Given the description of an element on the screen output the (x, y) to click on. 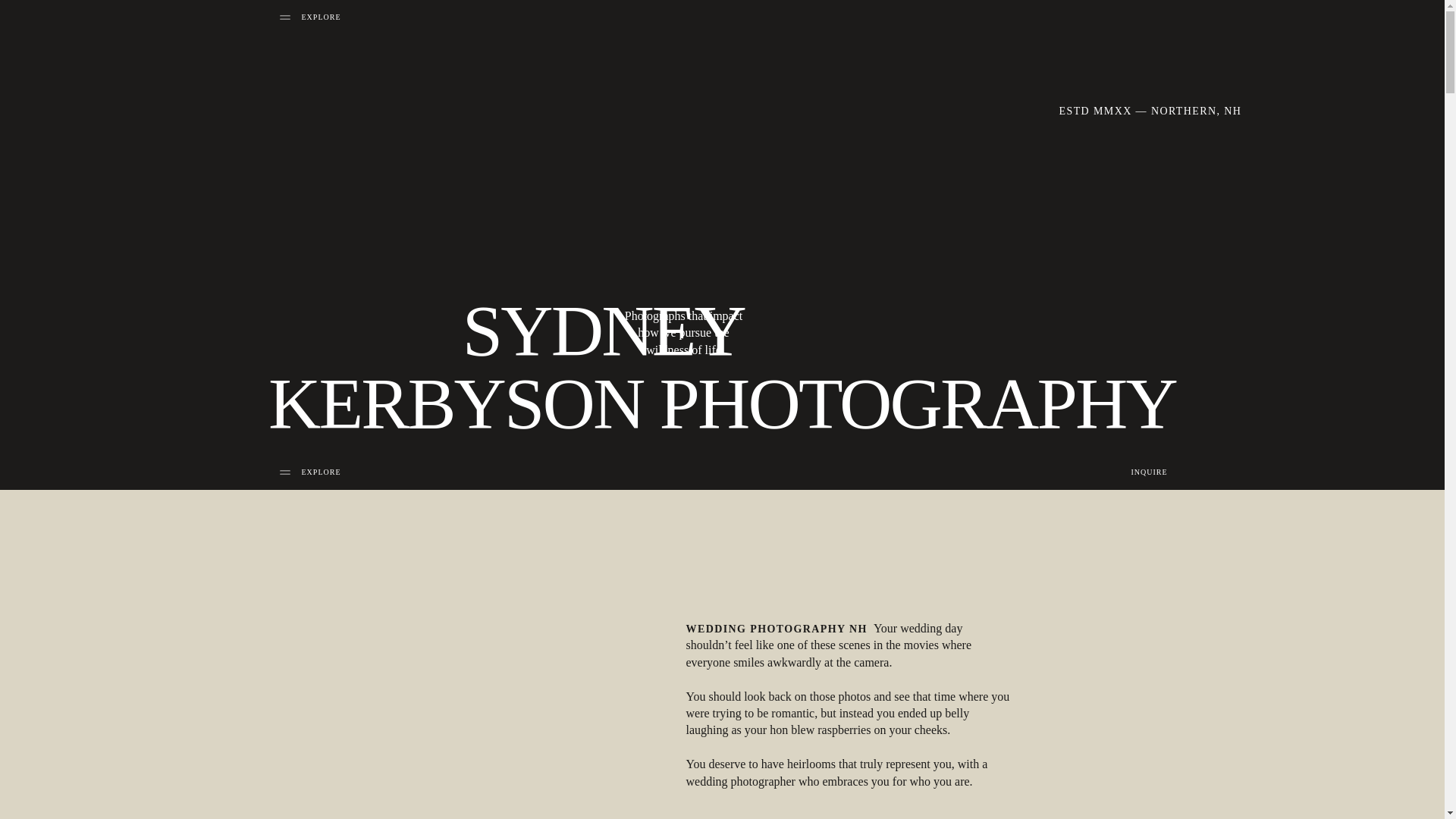
INQUIRE (1135, 472)
